Given the description of an element on the screen output the (x, y) to click on. 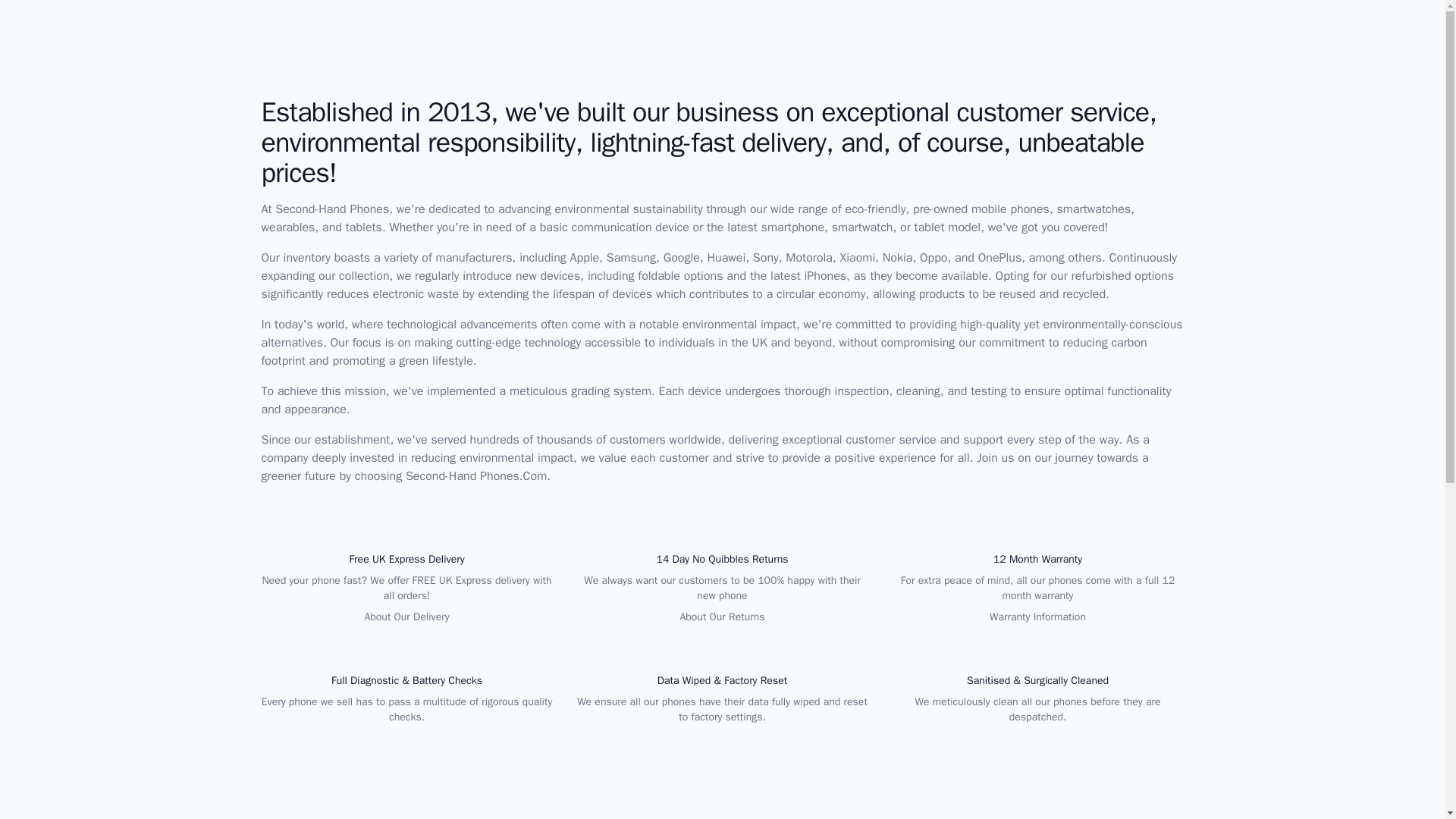
About Our Delivery (406, 616)
Warranty Information (1038, 616)
About Our Returns (721, 616)
